Given the description of an element on the screen output the (x, y) to click on. 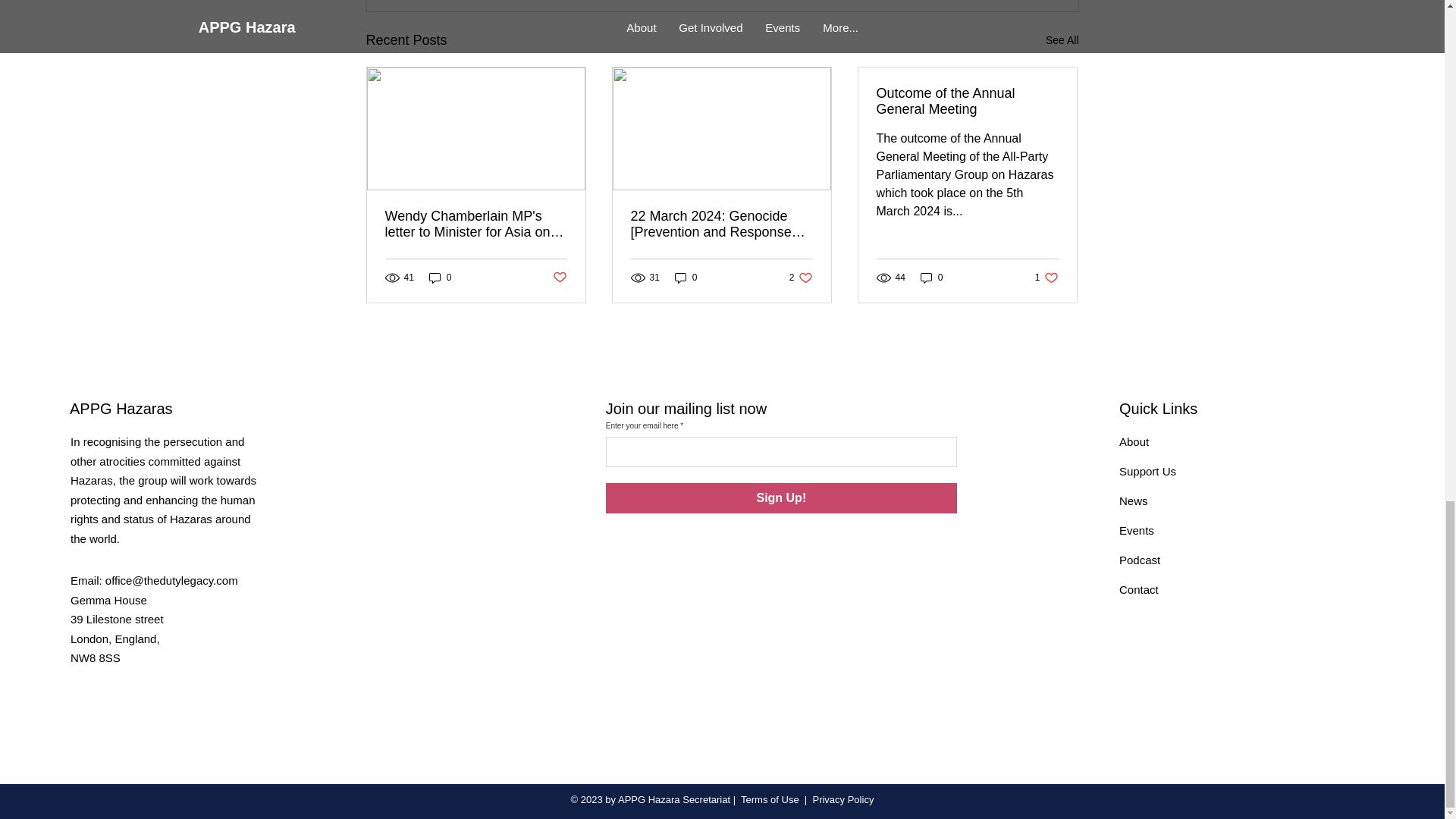
See All (1061, 40)
About (1133, 440)
Outcome of the Annual General Meeting (967, 101)
0 (685, 278)
Contact (1046, 278)
0 (1138, 589)
Events (440, 278)
Support Us (1136, 530)
